Given the description of an element on the screen output the (x, y) to click on. 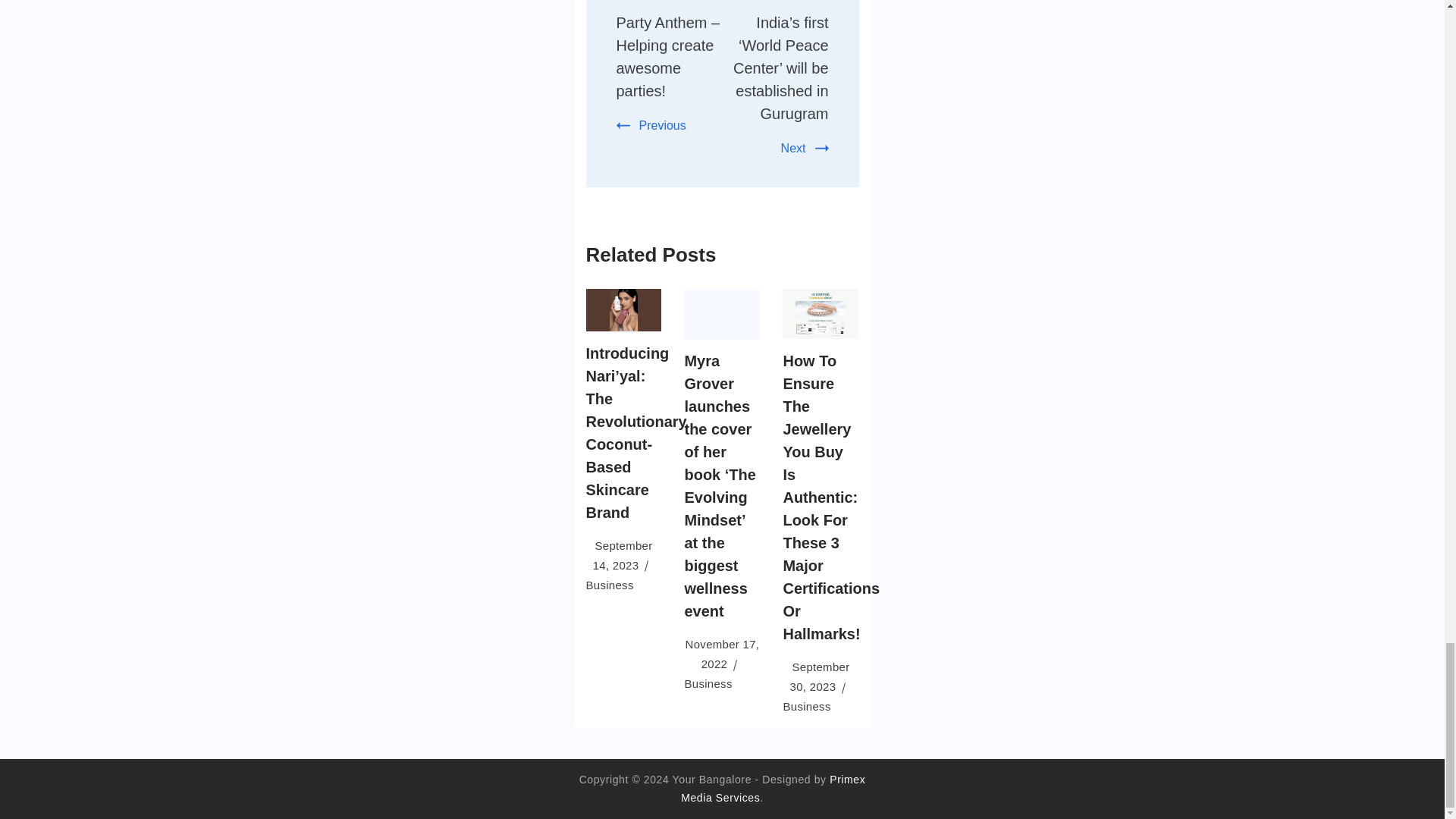
Business (708, 683)
Business (806, 706)
Primex Media Services (772, 788)
Previous (650, 124)
Next (804, 147)
Business (609, 584)
